Given the description of an element on the screen output the (x, y) to click on. 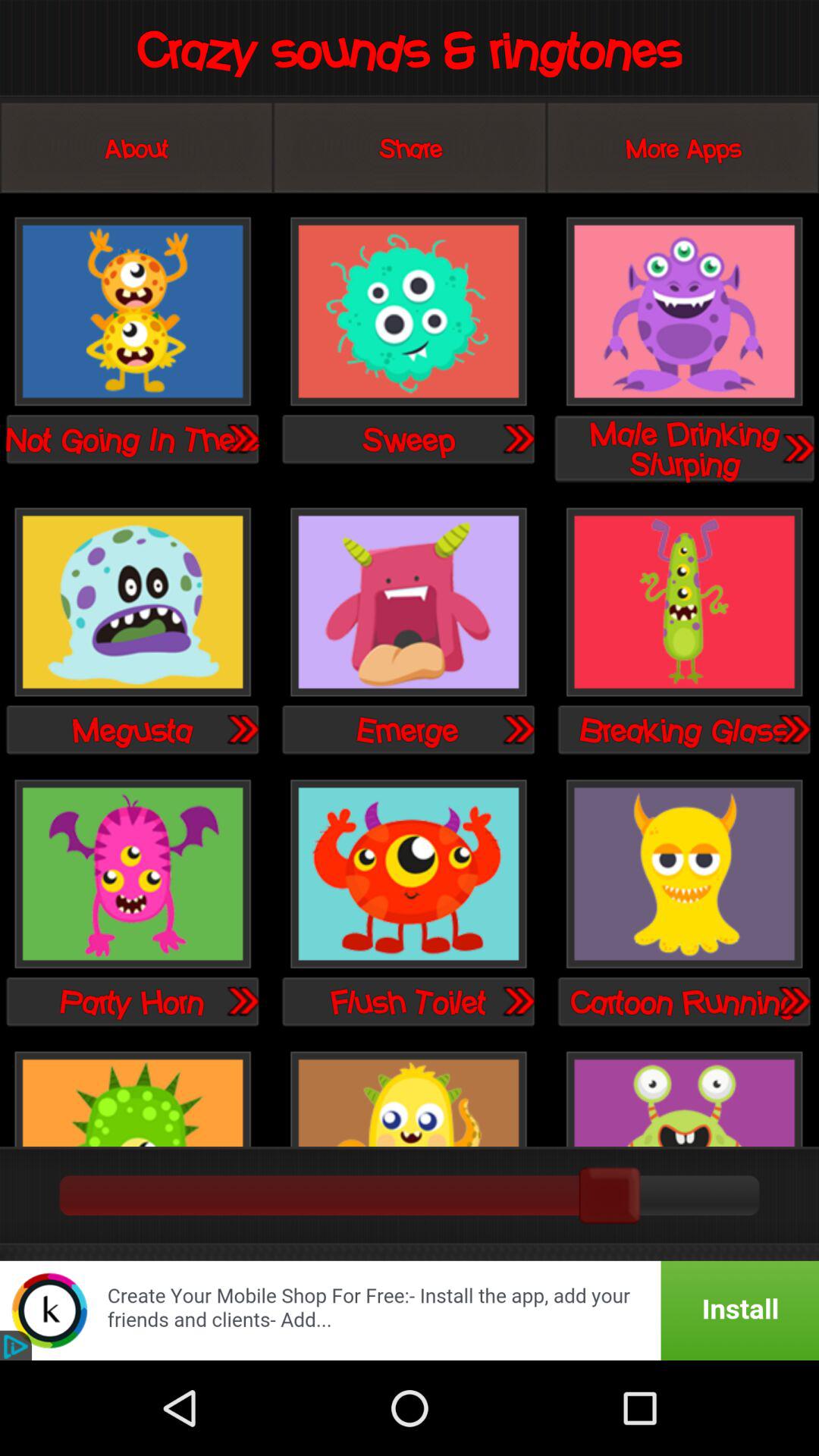
ringtone selection (408, 874)
